Given the description of an element on the screen output the (x, y) to click on. 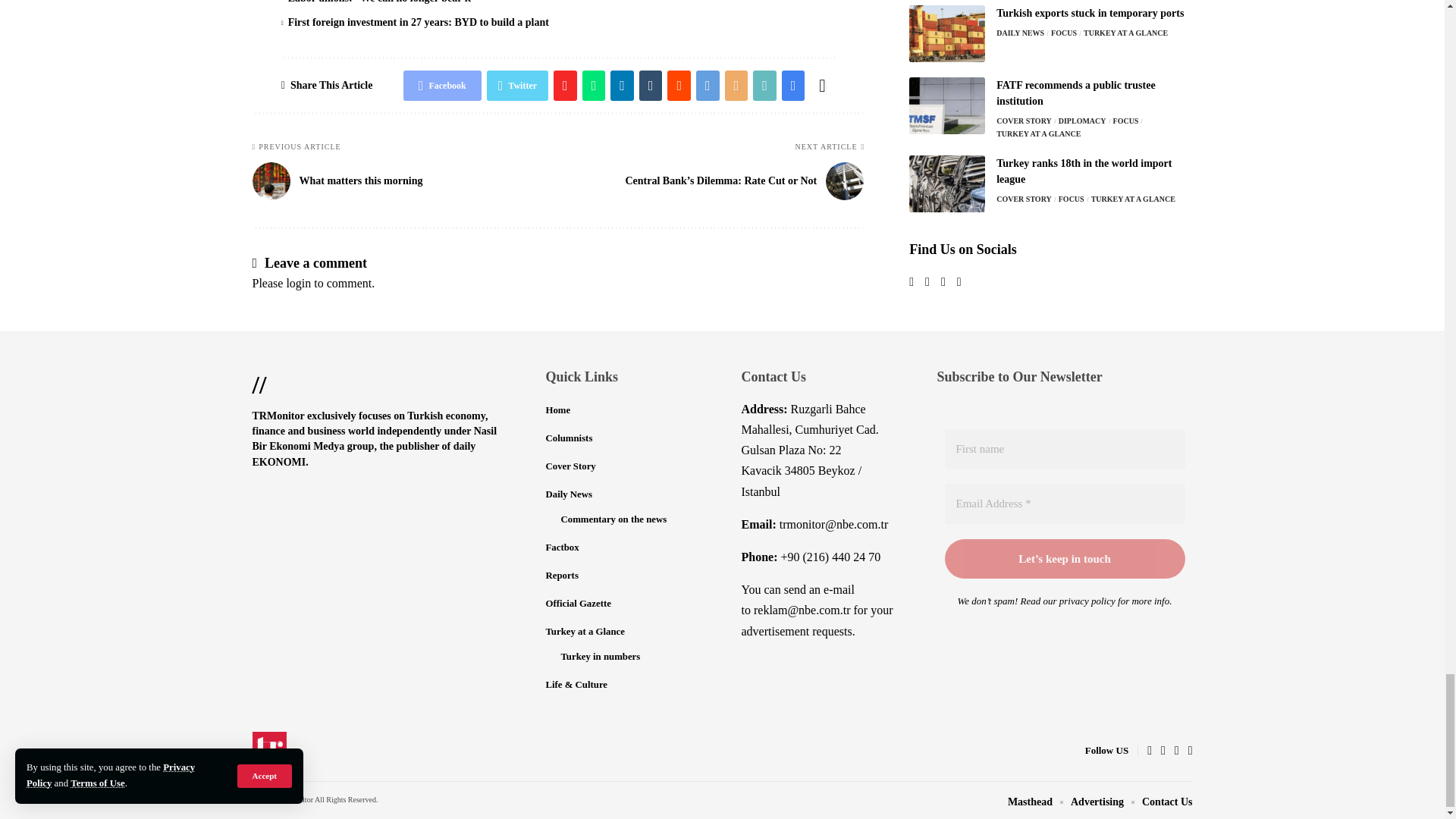
TR MONITOR (268, 750)
Email Address (1064, 504)
First name (1064, 449)
